Given the description of an element on the screen output the (x, y) to click on. 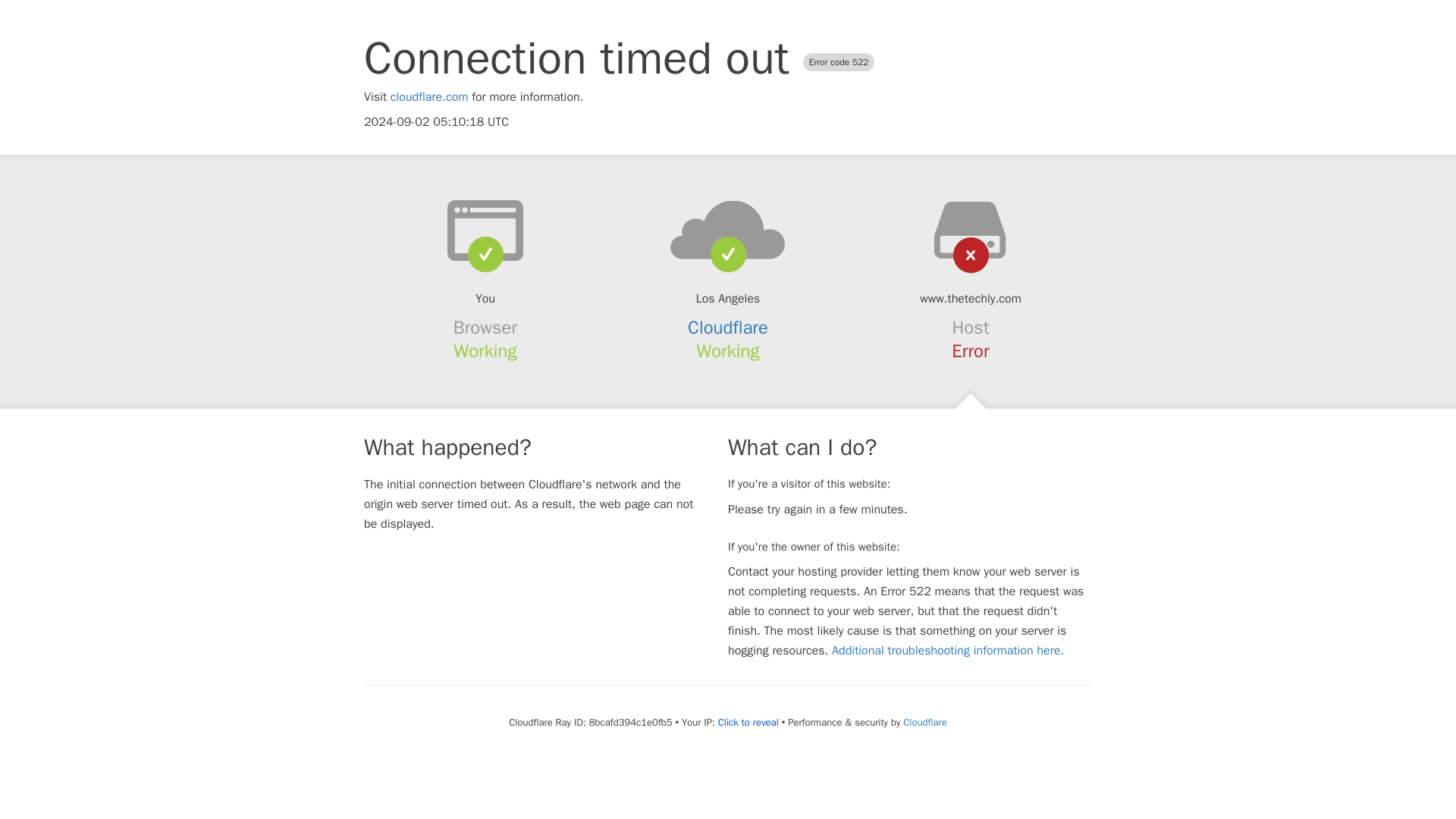
cloudflare.com (429, 96)
Cloudflare (924, 721)
Cloudflare (727, 327)
Click to reveal (747, 722)
Additional troubleshooting information here. (947, 650)
